Given the description of an element on the screen output the (x, y) to click on. 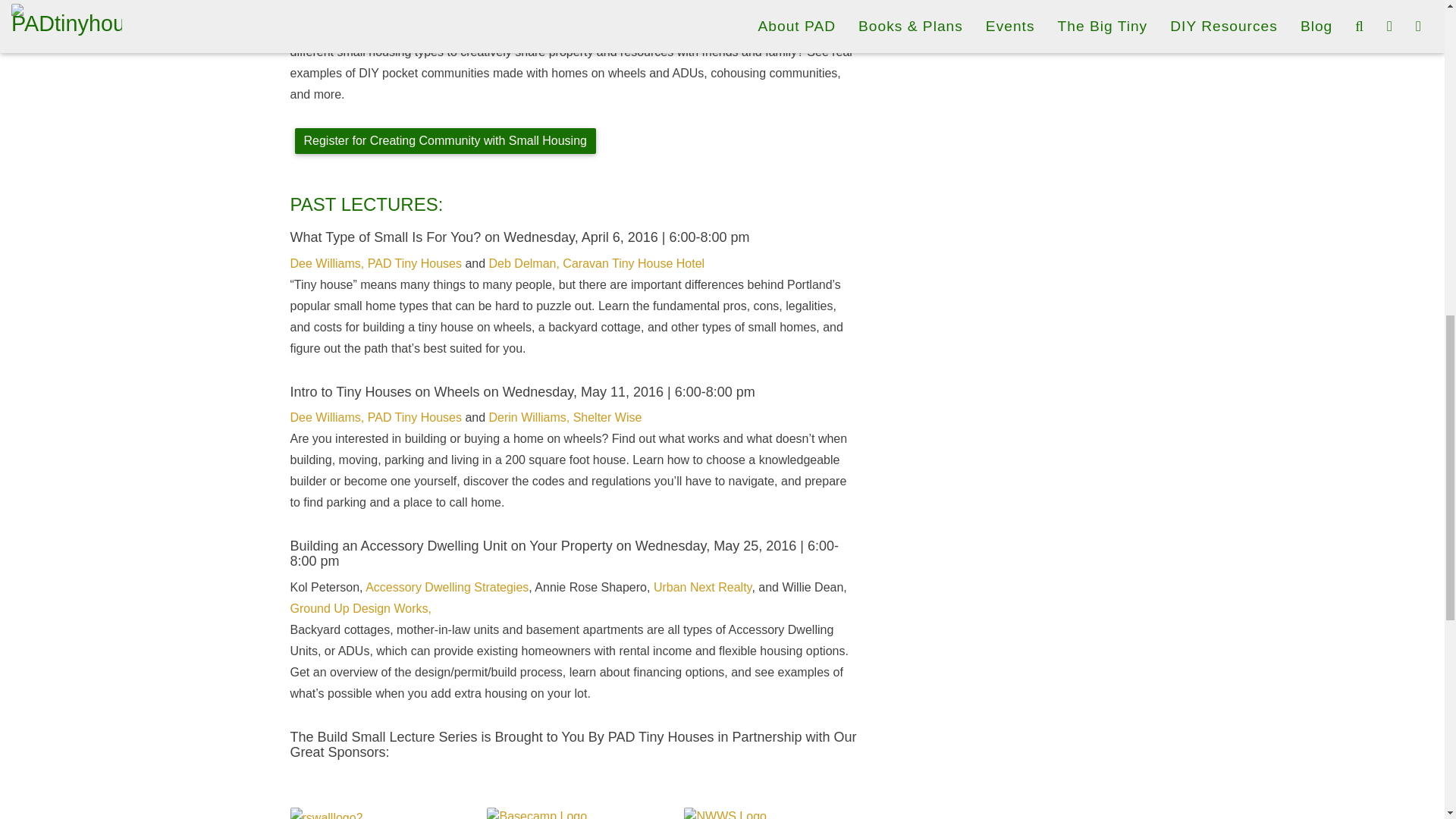
Derin Williams, Shelter Wise (565, 417)
Dee Williams, PAD Tiny Houses (375, 263)
Mark Lakeman, Communitecture (377, 9)
Ground Up Design Works, (359, 608)
Register for Creating Community with Small Housing (444, 140)
Urban Next Realty (702, 586)
Dee Williams, PAD Tiny Houses (375, 417)
Accessory Dwelling Strategies (446, 586)
Deb Delman, Caravan Tiny House Hotel (596, 263)
